Given the description of an element on the screen output the (x, y) to click on. 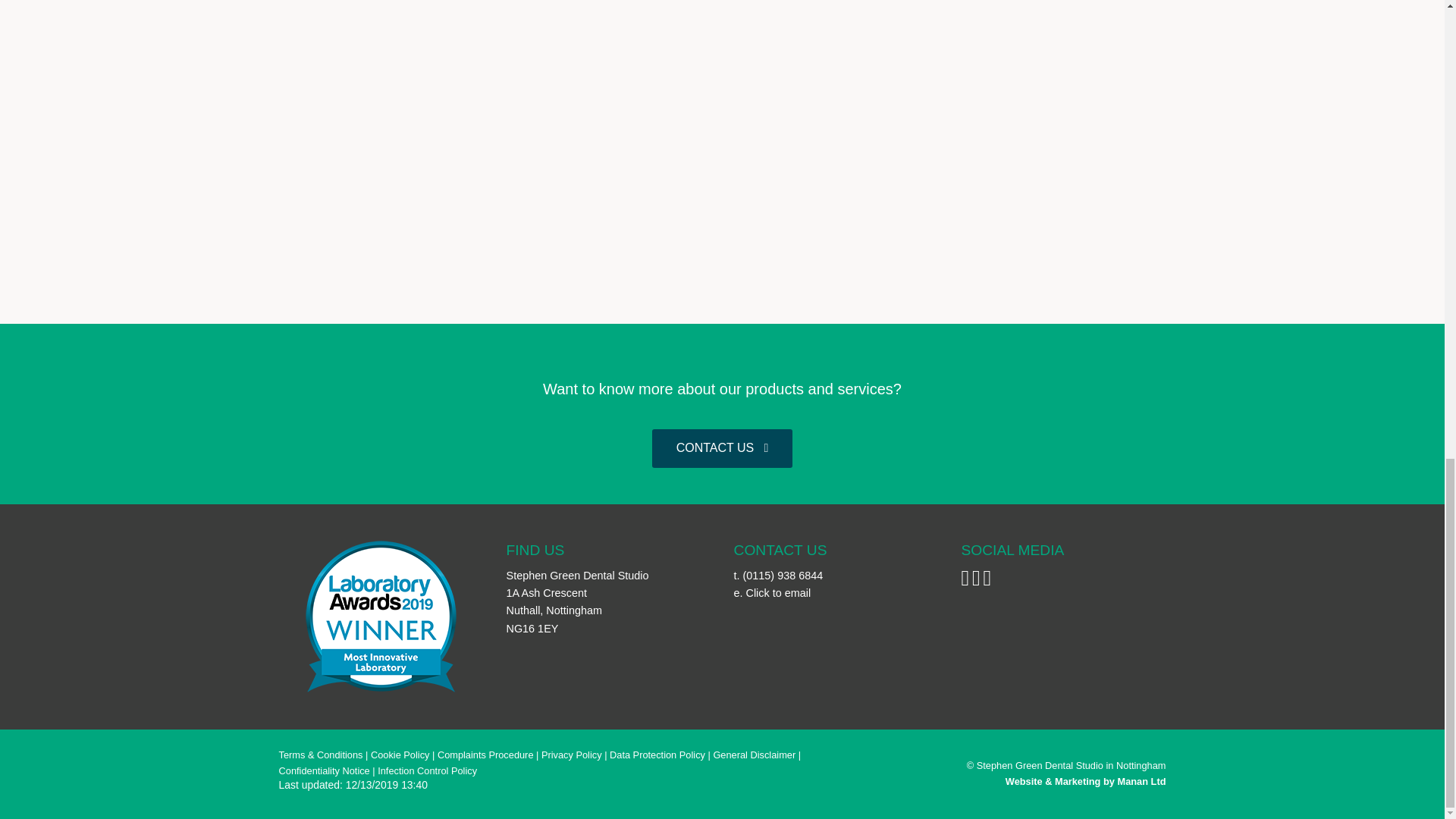
TERMS AND CONDITIONS (320, 754)
DATA PROTECTION POLICY (657, 754)
INFECTION CONTROL POLICY (427, 770)
